Given the description of an element on the screen output the (x, y) to click on. 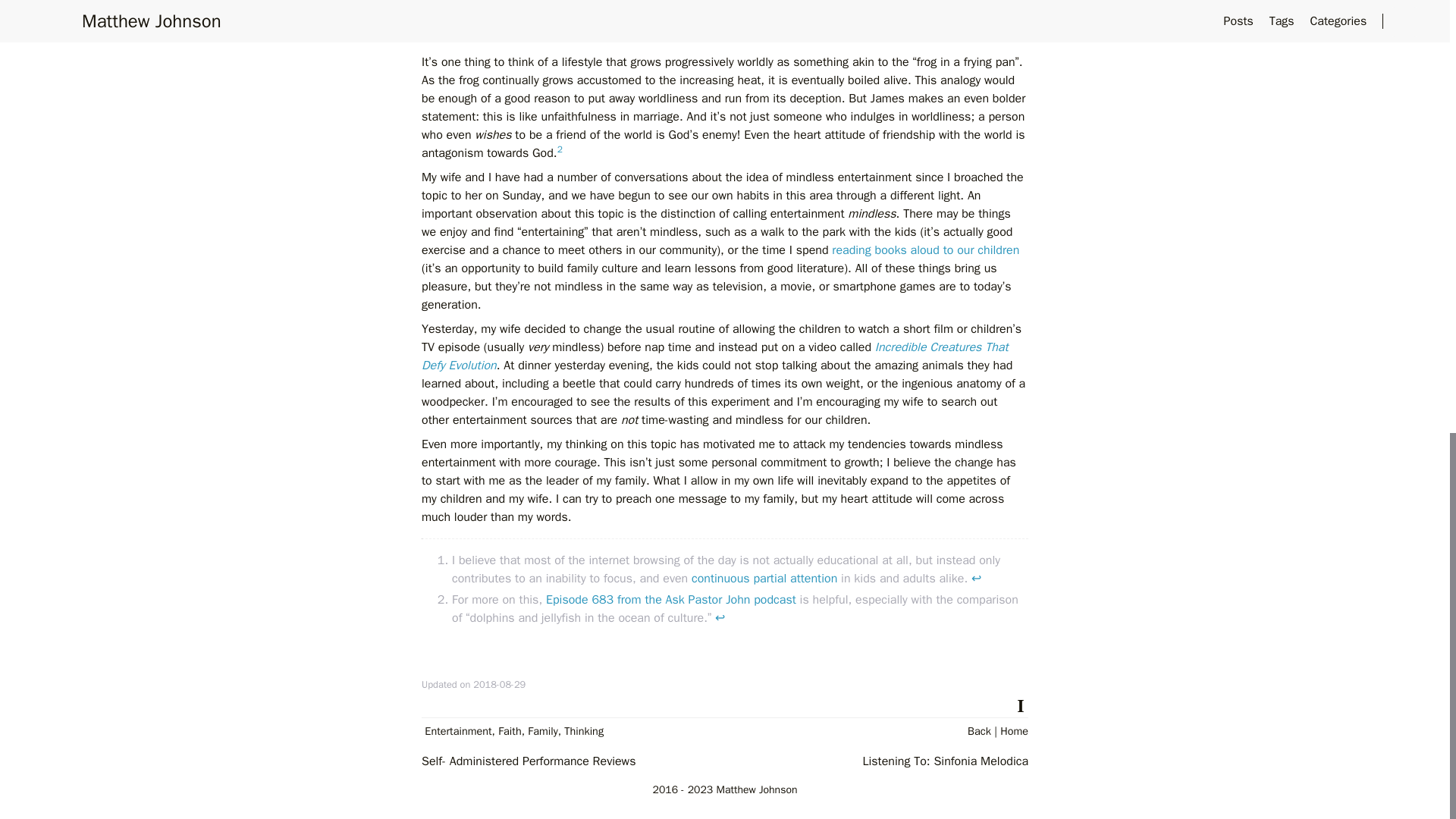
Share on Instapaper (1020, 703)
Faith (509, 730)
reading books aloud to our children (925, 249)
Home (1013, 730)
Episode 683 from the Ask Pastor John podcast (671, 599)
Thinking (584, 730)
Self- Administered Performance Reviews (528, 761)
Self- Administered Performance Reviews (528, 761)
Family (542, 730)
Listening To: Sinfonia Melodica (944, 761)
Back (979, 730)
Listening To: Sinfonia Melodica (944, 761)
Incredible Creatures That Defy Evolution (715, 356)
continuous partial attention (764, 578)
Entertainment (458, 730)
